Given the description of an element on the screen output the (x, y) to click on. 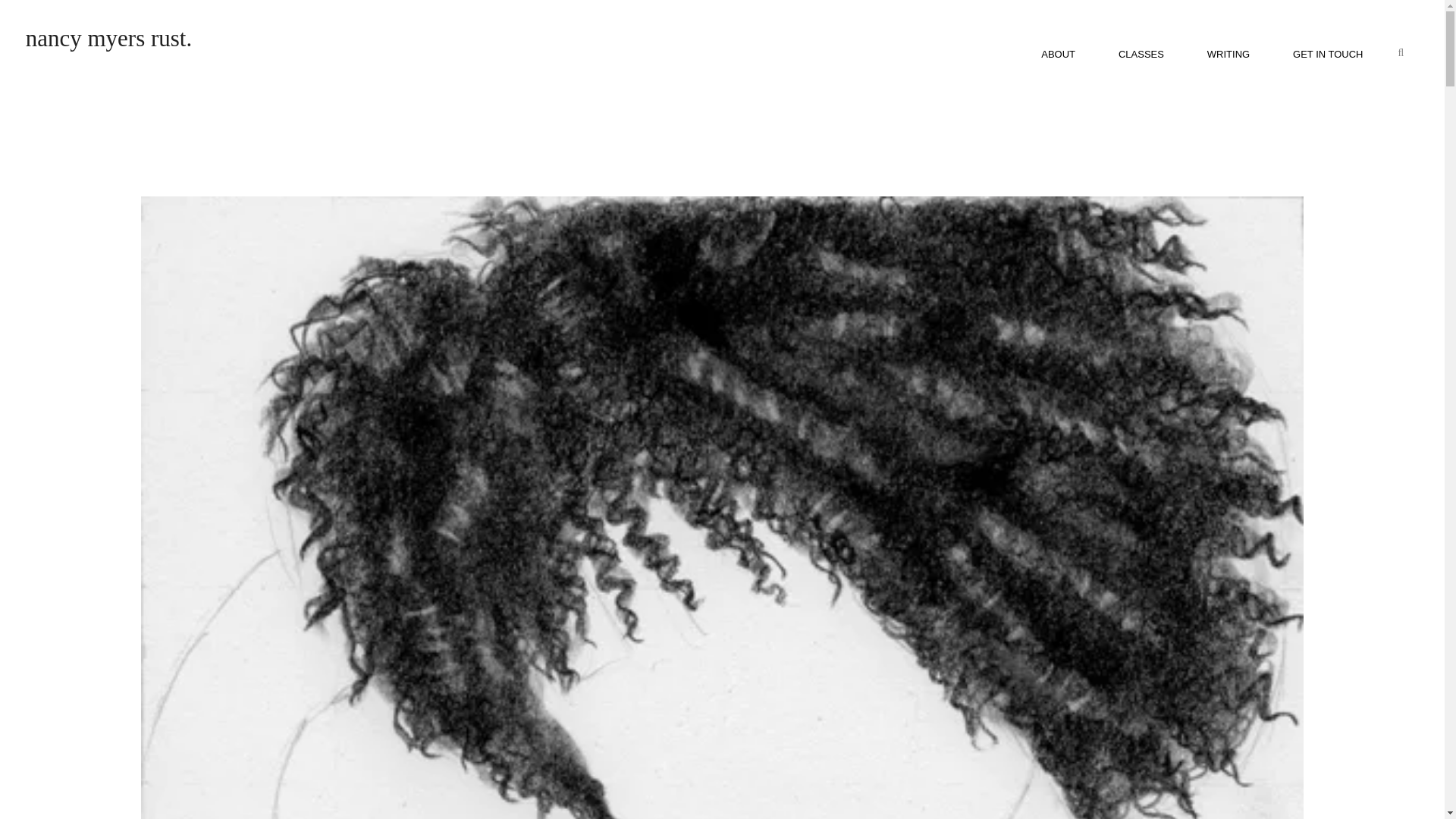
nancy myers rust. (109, 38)
CLASSES (1140, 54)
GET IN TOUCH (1327, 54)
WRITING (1228, 54)
